Given the description of an element on the screen output the (x, y) to click on. 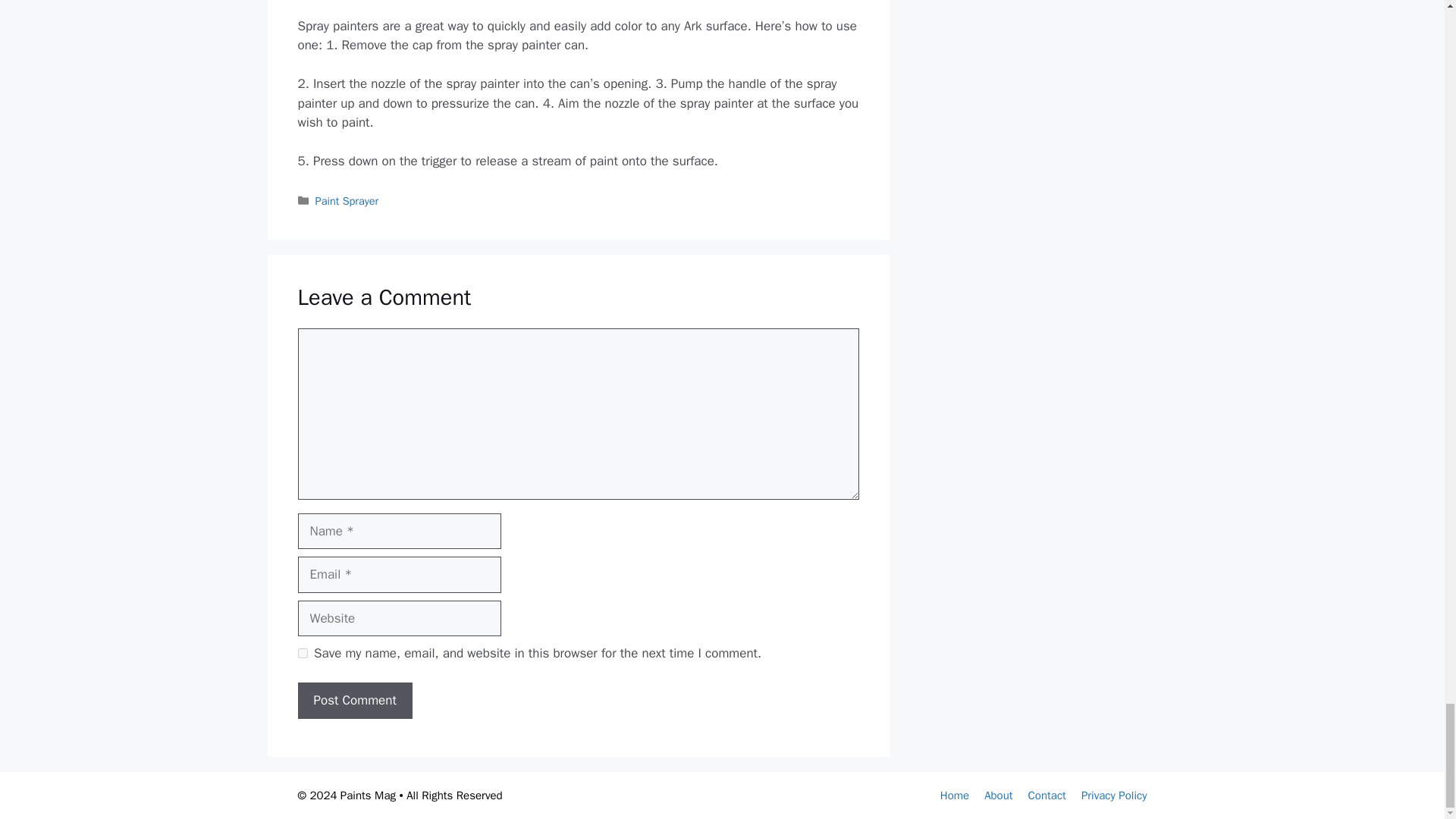
Post Comment (354, 700)
Paint Sprayer (346, 201)
Post Comment (354, 700)
yes (302, 653)
